Given the description of an element on the screen output the (x, y) to click on. 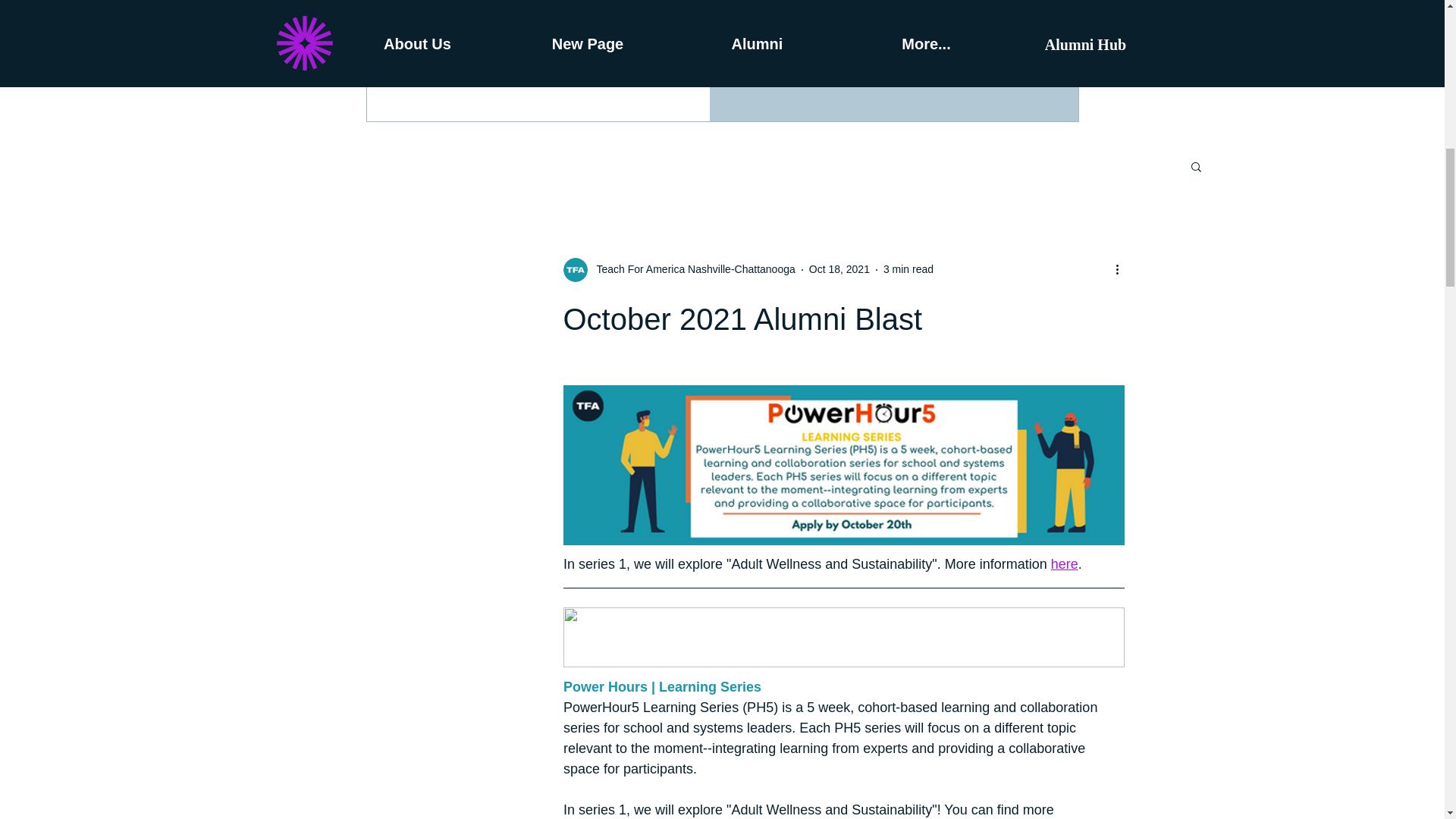
here (1063, 563)
3 min read (908, 268)
Teach For America Nashville-Chattanooga (690, 269)
Oct 18, 2021 (839, 268)
Teach For America Nashville-Chattanooga (678, 269)
